Given the description of an element on the screen output the (x, y) to click on. 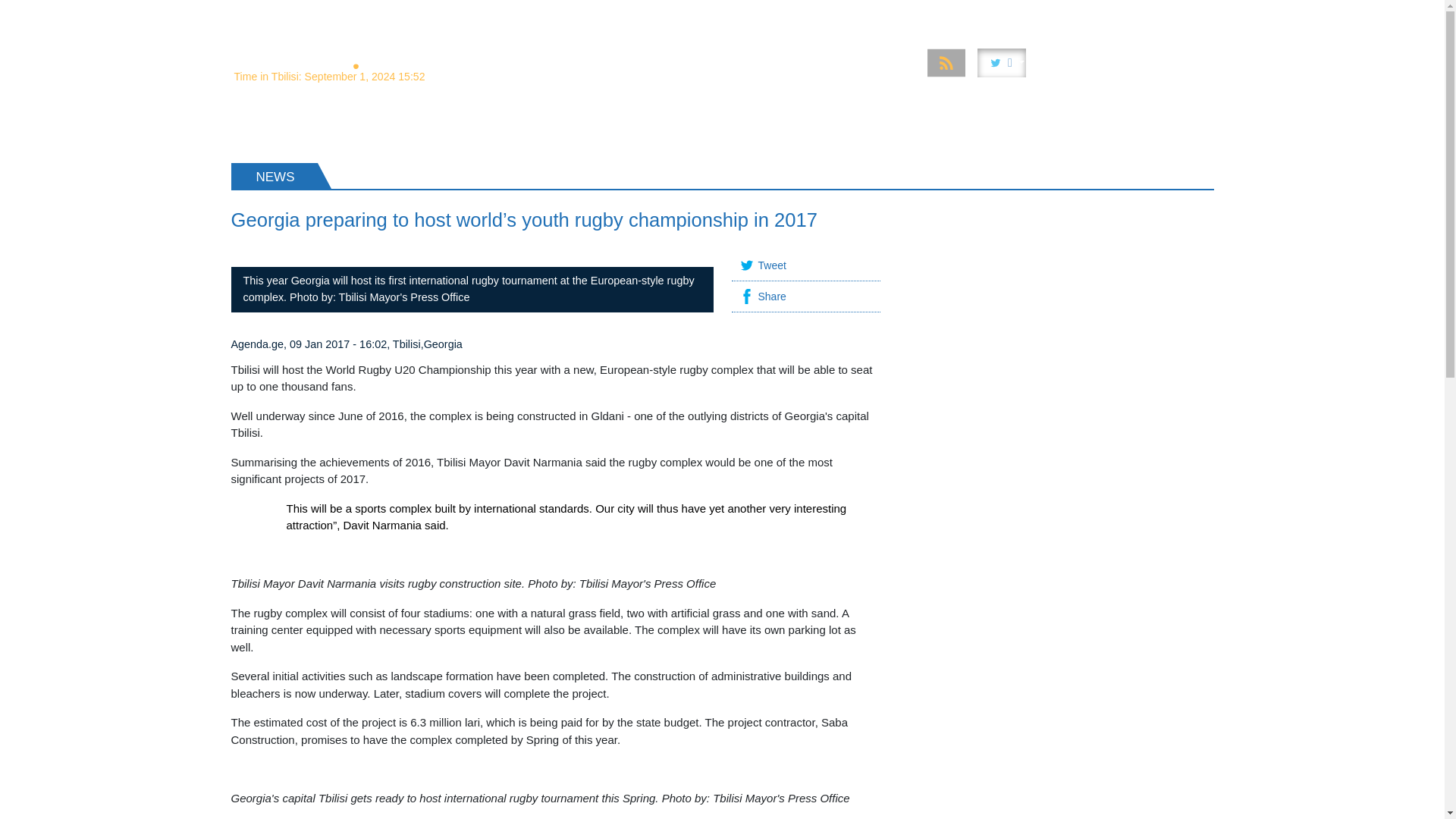
Government (751, 14)
Pressscanner (1116, 14)
Infographic (990, 14)
Analysis (571, 14)
In Pictures (911, 14)
Special Reports (656, 14)
Home (512, 14)
Life (1050, 14)
Multimedia (833, 14)
Blogs (1187, 14)
